Given the description of an element on the screen output the (x, y) to click on. 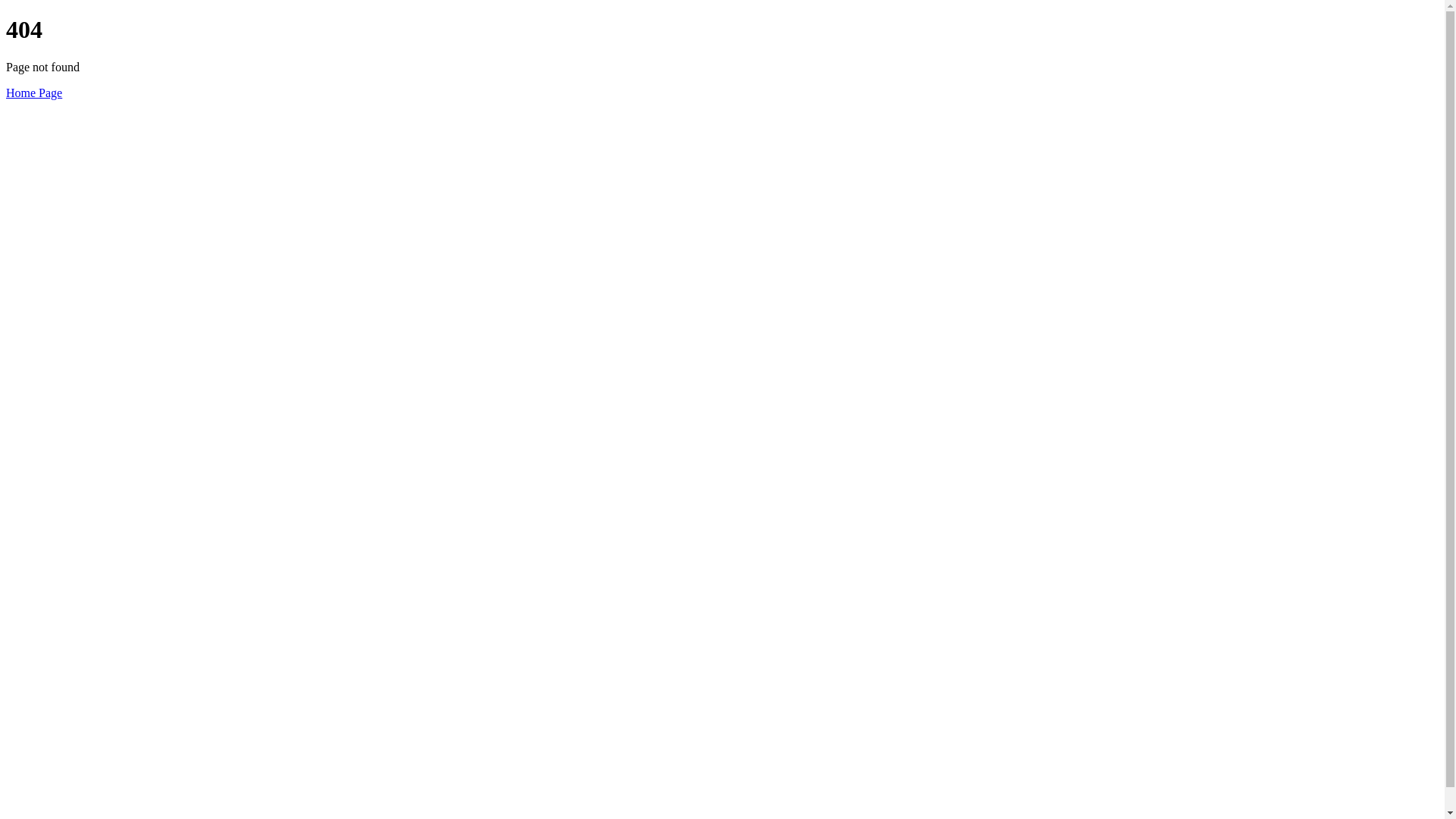
Home Page Element type: text (34, 92)
